Given the description of an element on the screen output the (x, y) to click on. 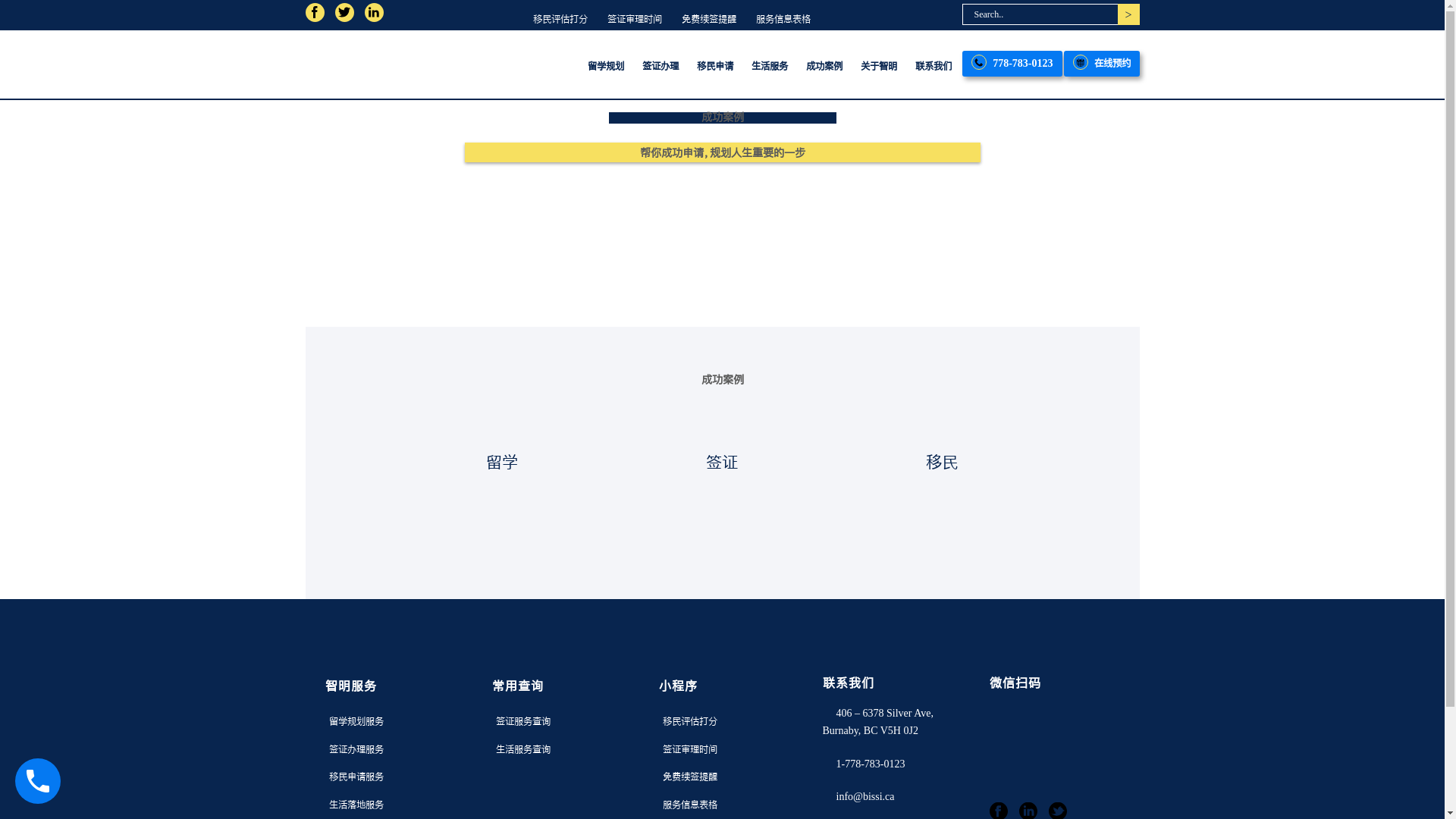
1-778-783-0123 Element type: text (863, 763)
info@bissi.ca Element type: text (858, 795)
778-783-0123 Element type: text (1011, 63)
